Given the description of an element on the screen output the (x, y) to click on. 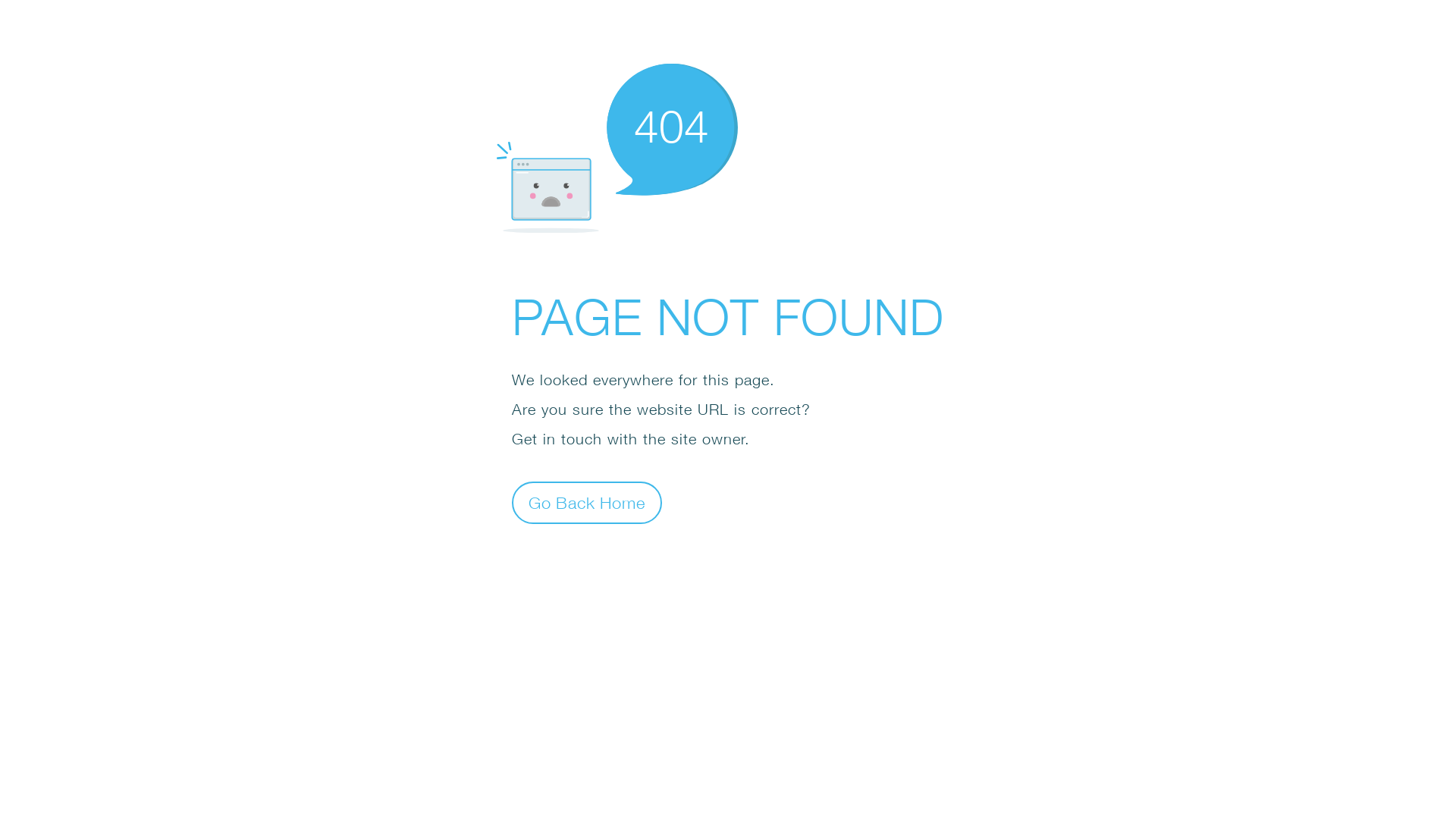
Go Back Home Element type: text (586, 502)
